Given the description of an element on the screen output the (x, y) to click on. 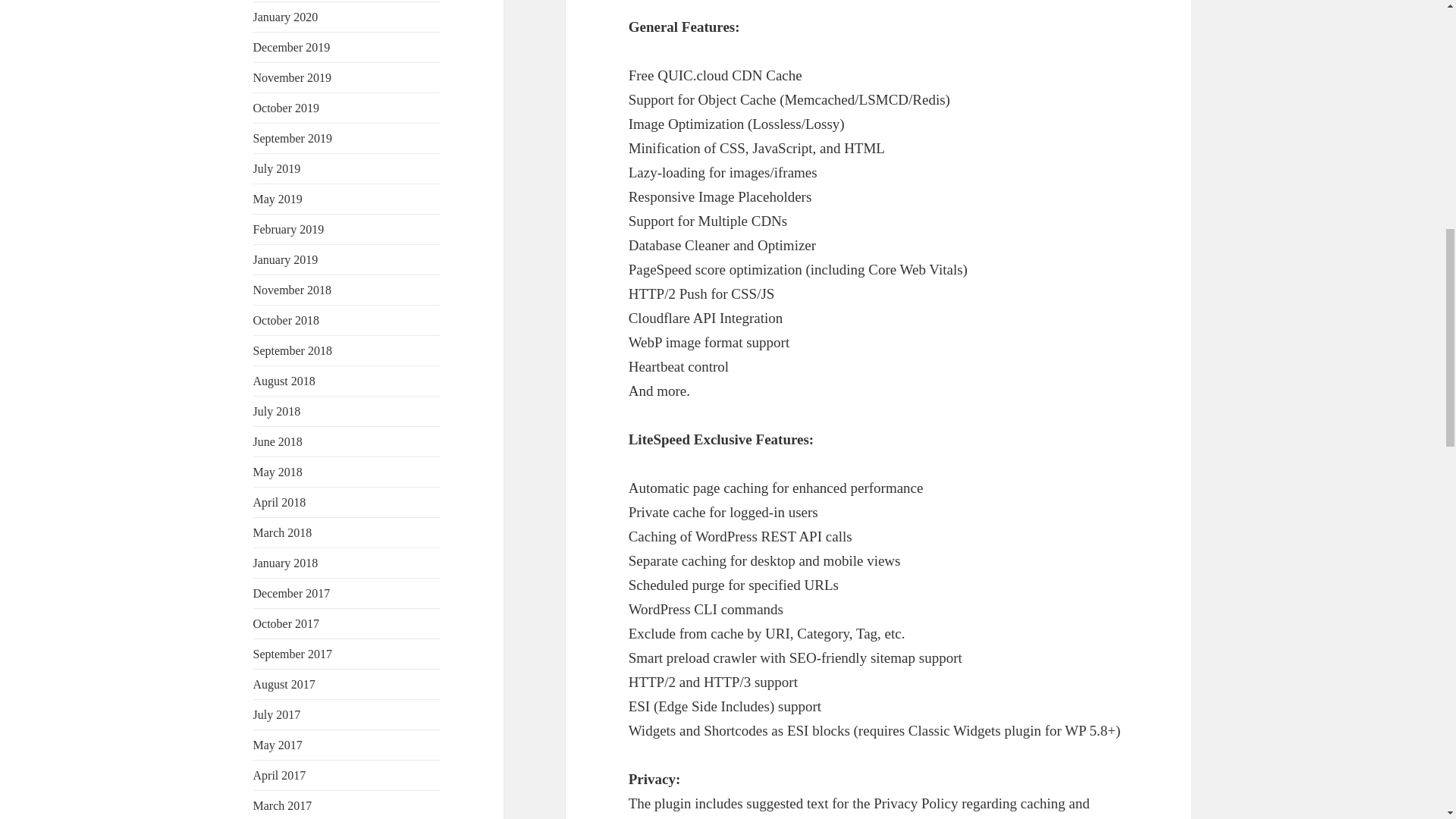
September 2018 (292, 350)
January 2019 (285, 259)
December 2017 (291, 593)
October 2017 (286, 623)
June 2018 (277, 440)
November 2018 (292, 289)
January 2020 (285, 16)
August 2018 (284, 380)
October 2018 (286, 319)
December 2019 (291, 47)
March 2018 (283, 532)
October 2019 (286, 107)
July 2019 (277, 168)
July 2018 (277, 410)
February 2019 (288, 228)
